Given the description of an element on the screen output the (x, y) to click on. 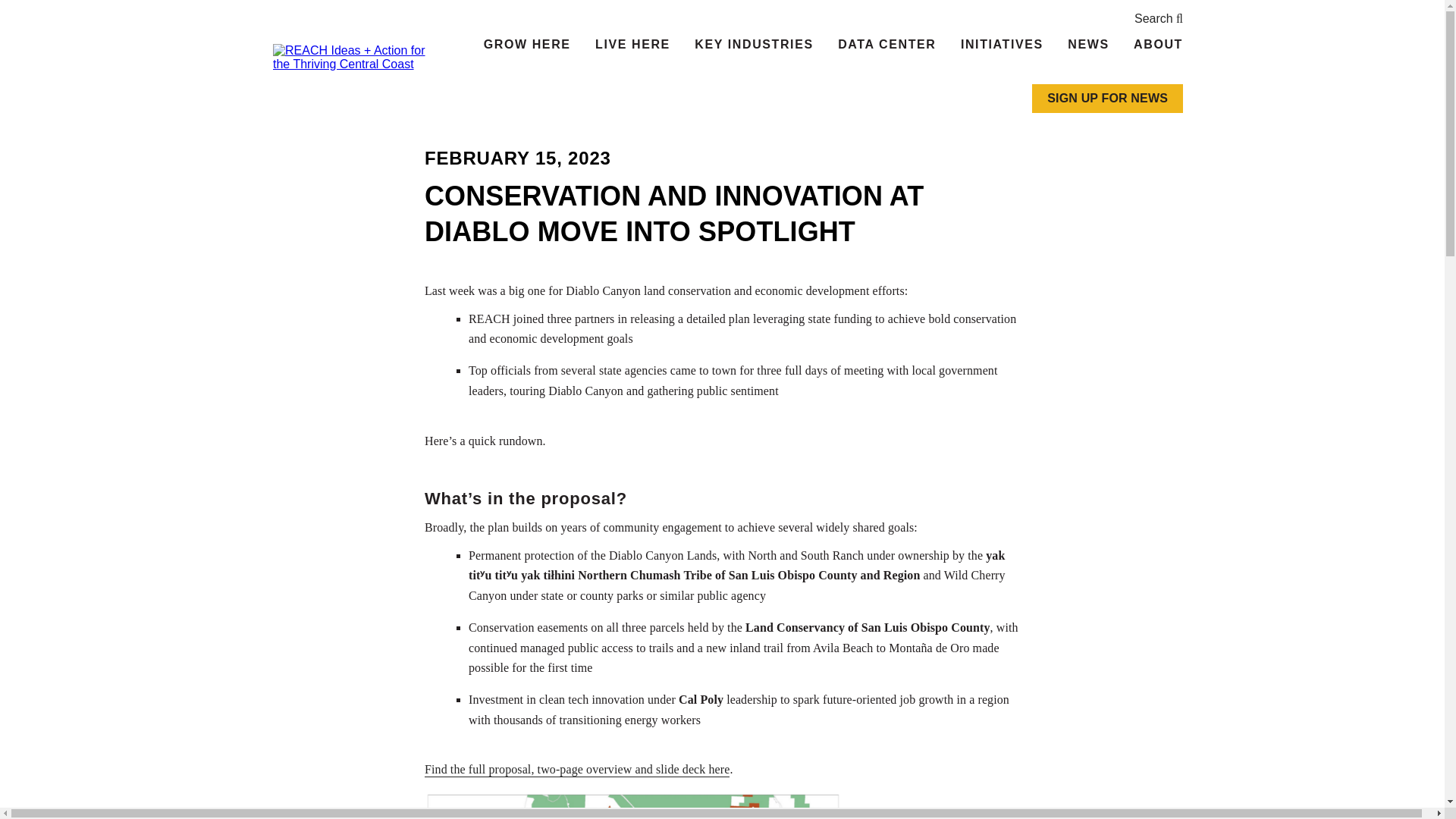
KEY INDUSTRIES (754, 45)
GROW HERE (526, 45)
LIVE HERE (633, 45)
REACH (357, 58)
